Given the description of an element on the screen output the (x, y) to click on. 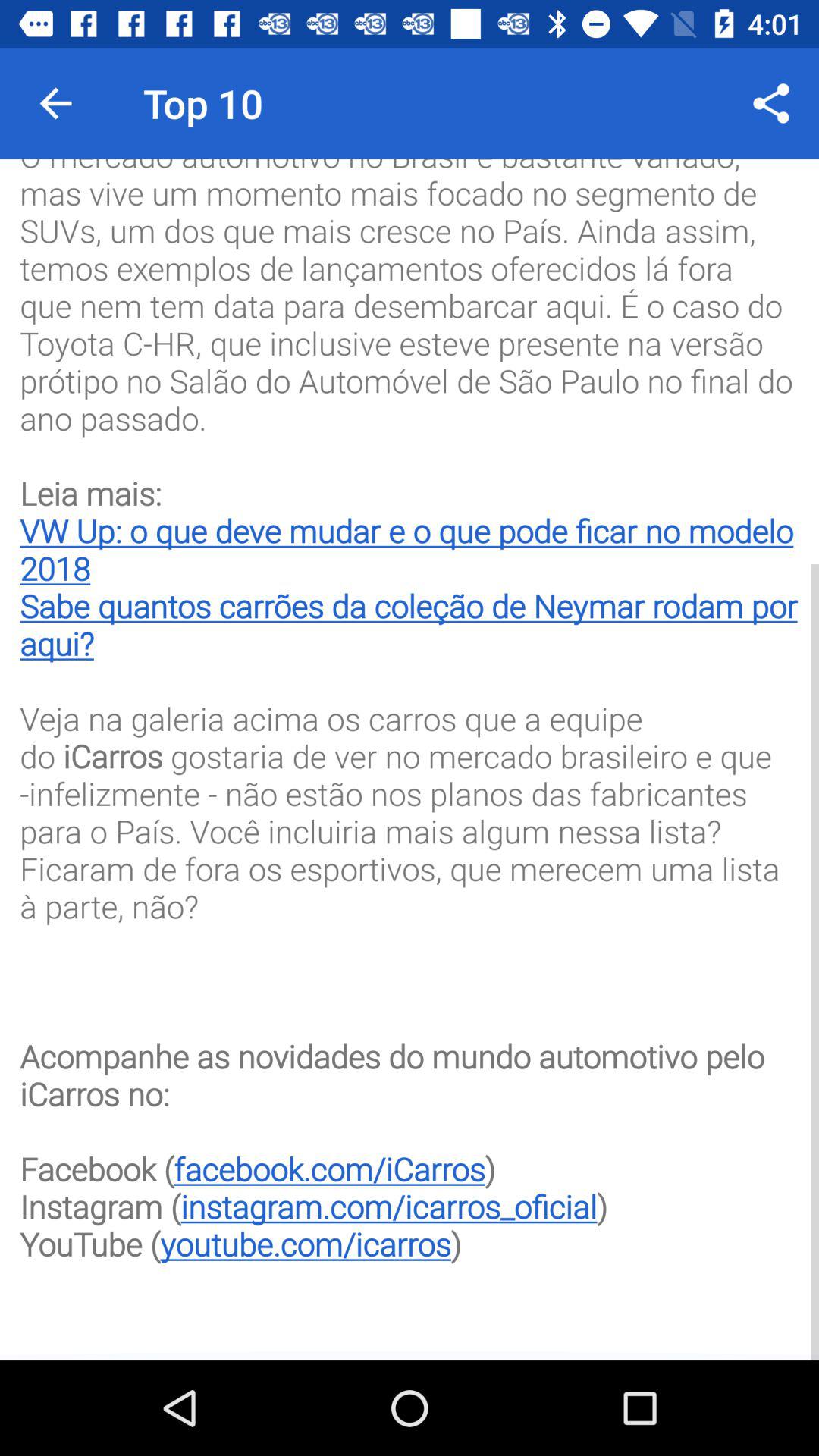
launch the icon to the left of top 10 (55, 103)
